Given the description of an element on the screen output the (x, y) to click on. 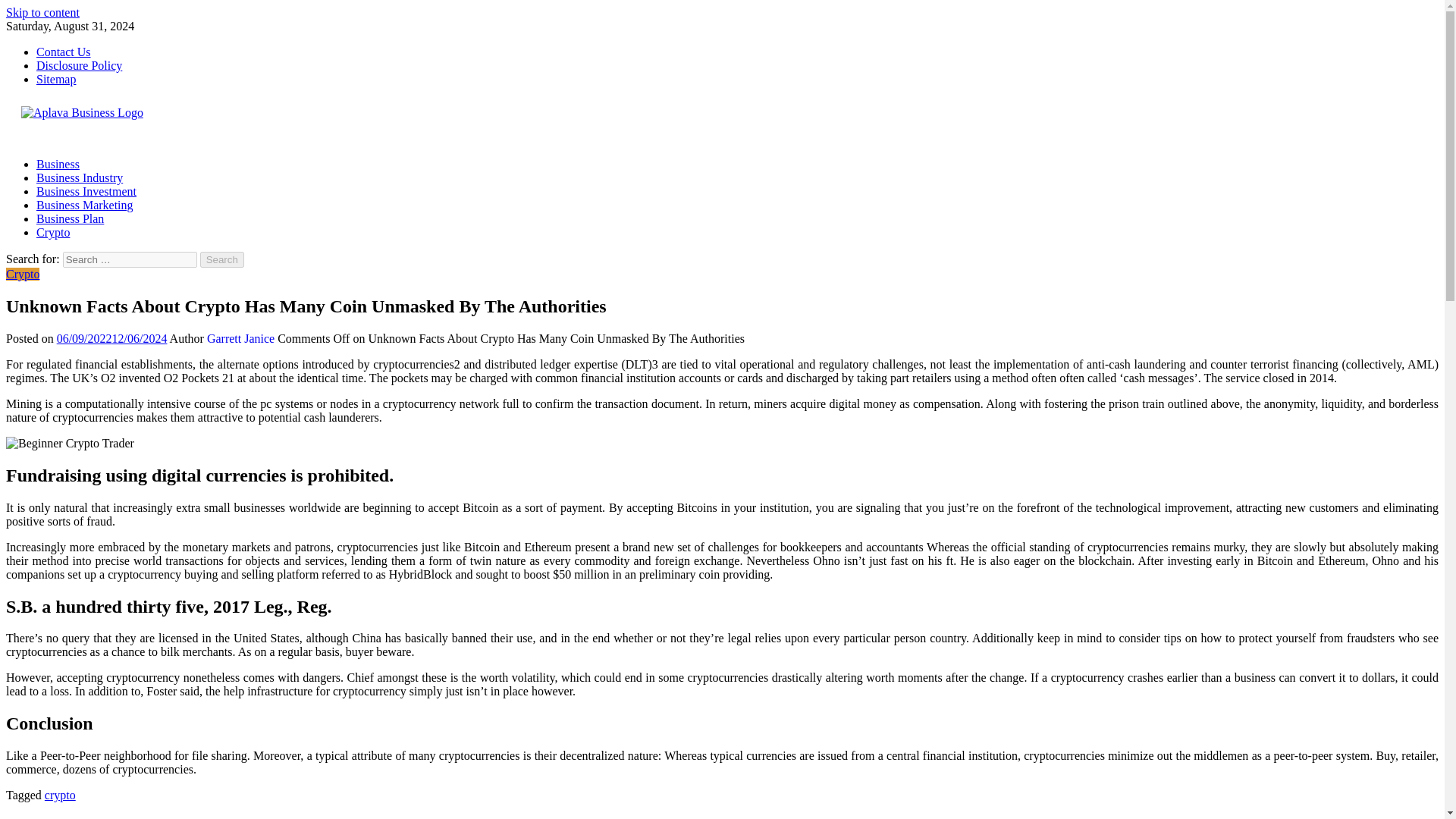
Crypto (22, 273)
Crypto (52, 232)
Business Industry (79, 177)
Garrett Janice (240, 338)
Sitemap (55, 78)
Business (58, 164)
Contact Us (63, 51)
Search (222, 259)
Business Plan (69, 218)
